Given the description of an element on the screen output the (x, y) to click on. 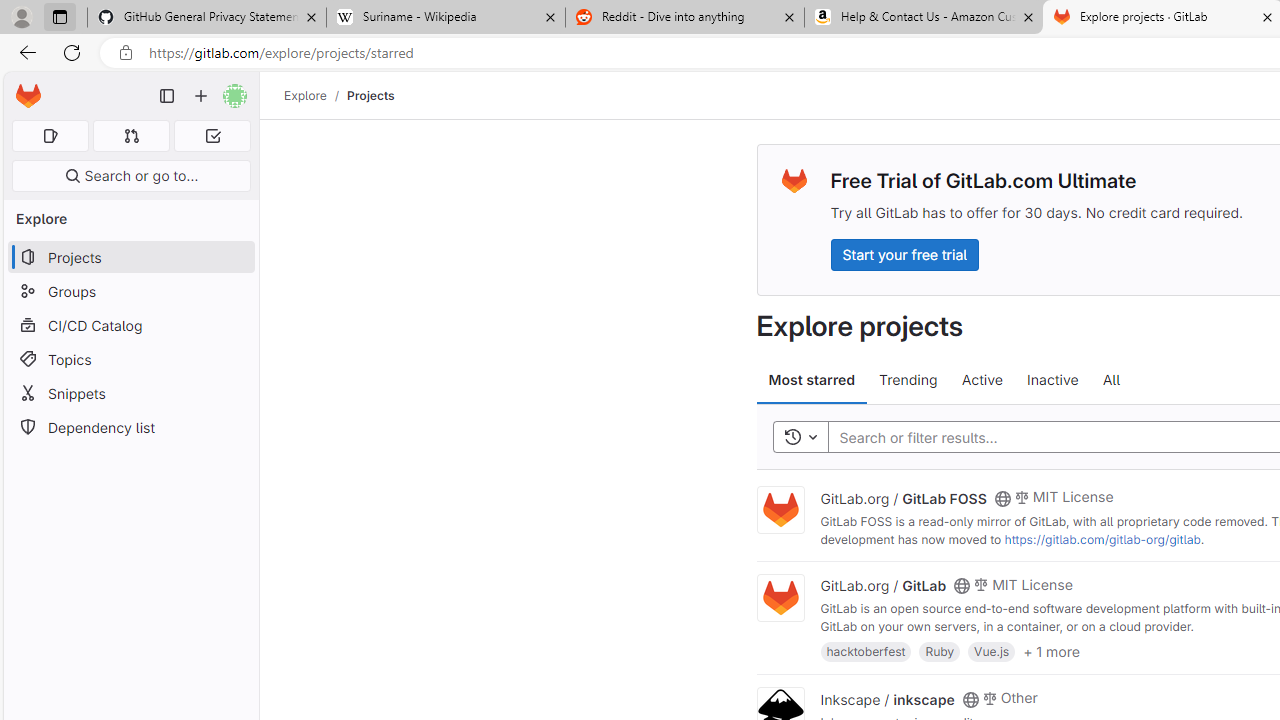
Topics (130, 358)
All (1111, 379)
Merge requests 0 (131, 136)
Explore (305, 95)
Topics (130, 358)
Class: s14 gl-mr-2 (989, 696)
Inkscape / inkscape (887, 698)
Projects (370, 95)
Dependency list (130, 427)
GitHub General Privacy Statement - GitHub Docs (207, 17)
Toggle history (800, 437)
